Given the description of an element on the screen output the (x, y) to click on. 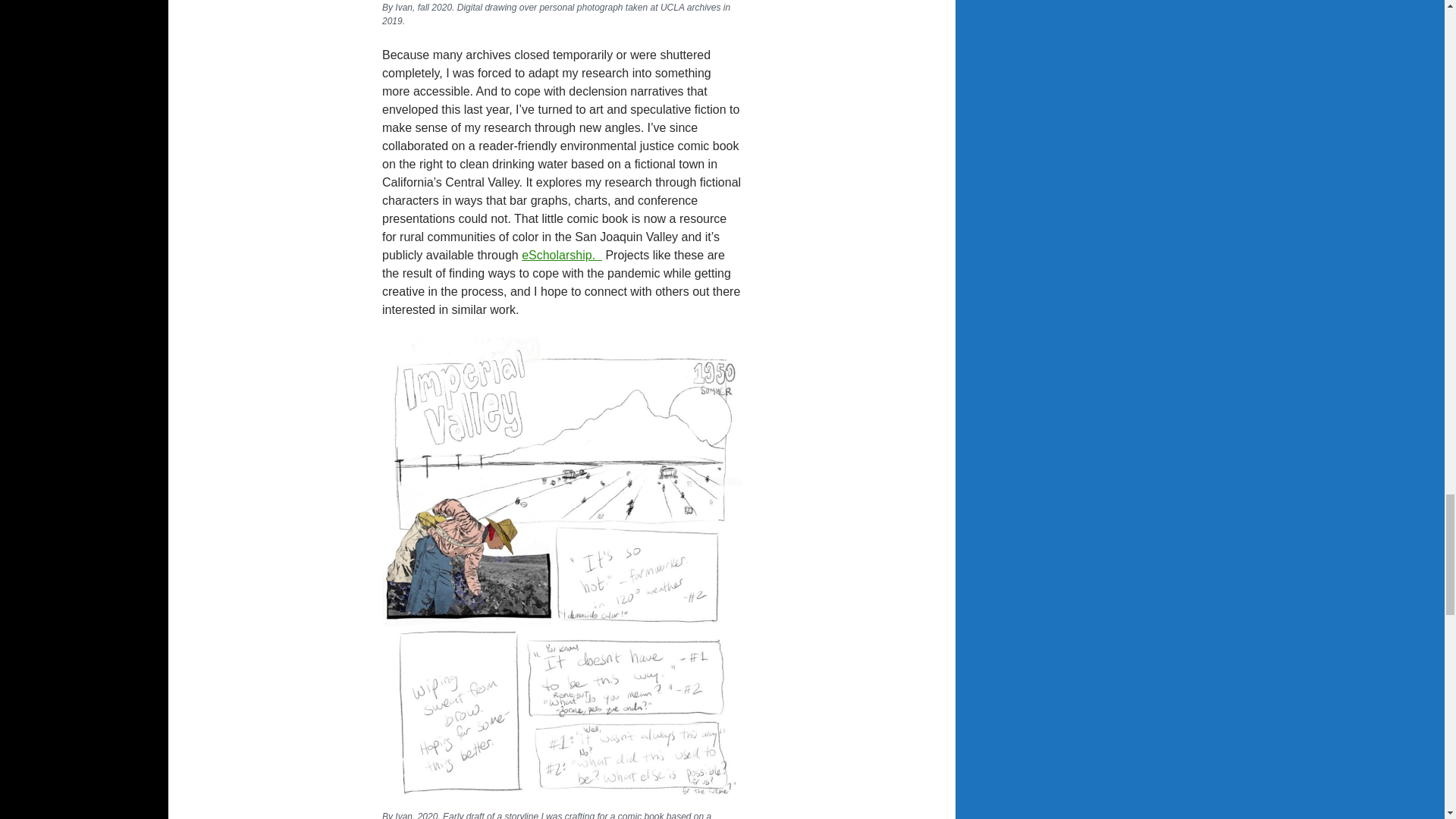
eScholarship.   (561, 254)
